Given the description of an element on the screen output the (x, y) to click on. 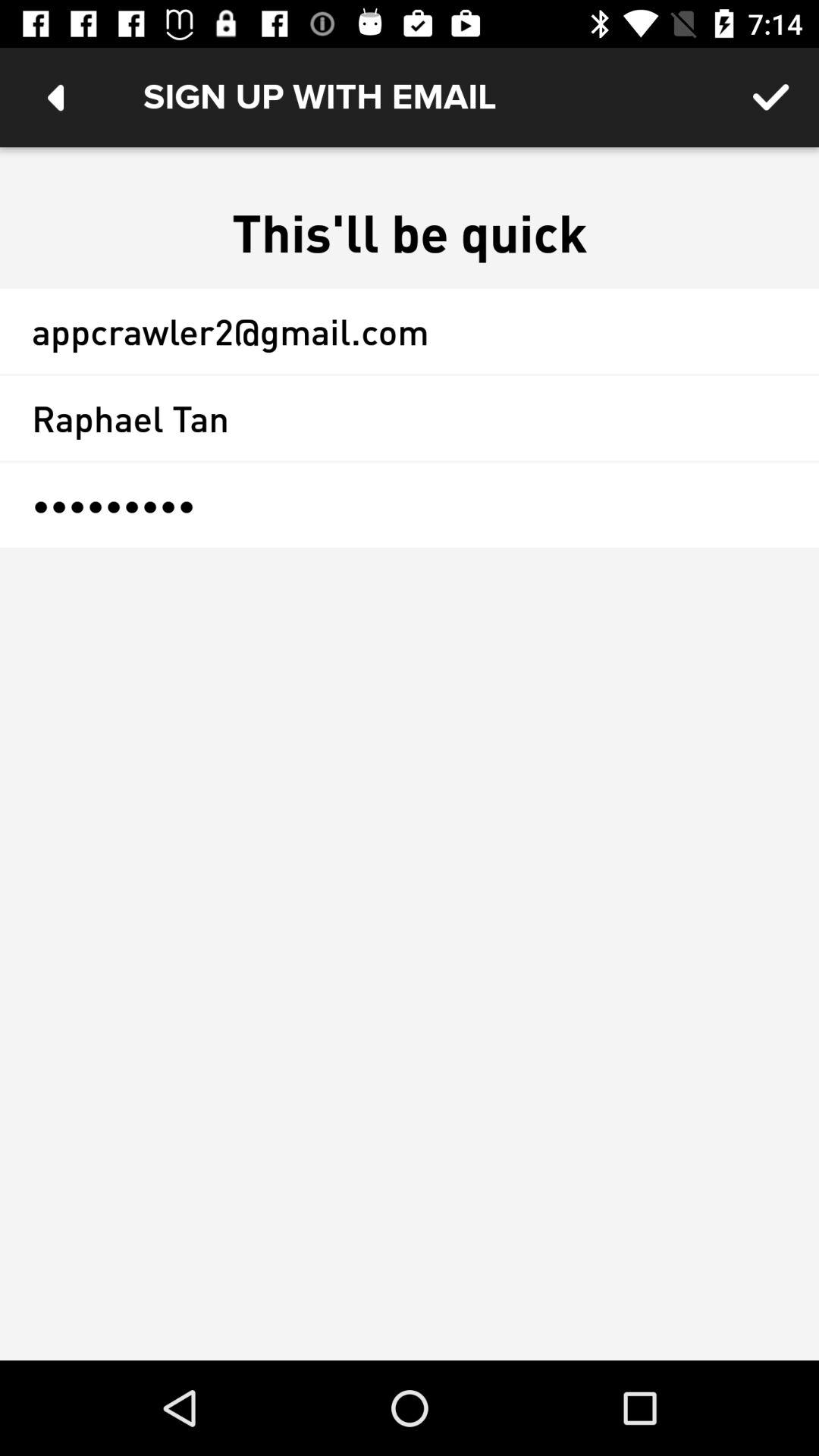
click item to the right of the sign up with item (771, 97)
